Given the description of an element on the screen output the (x, y) to click on. 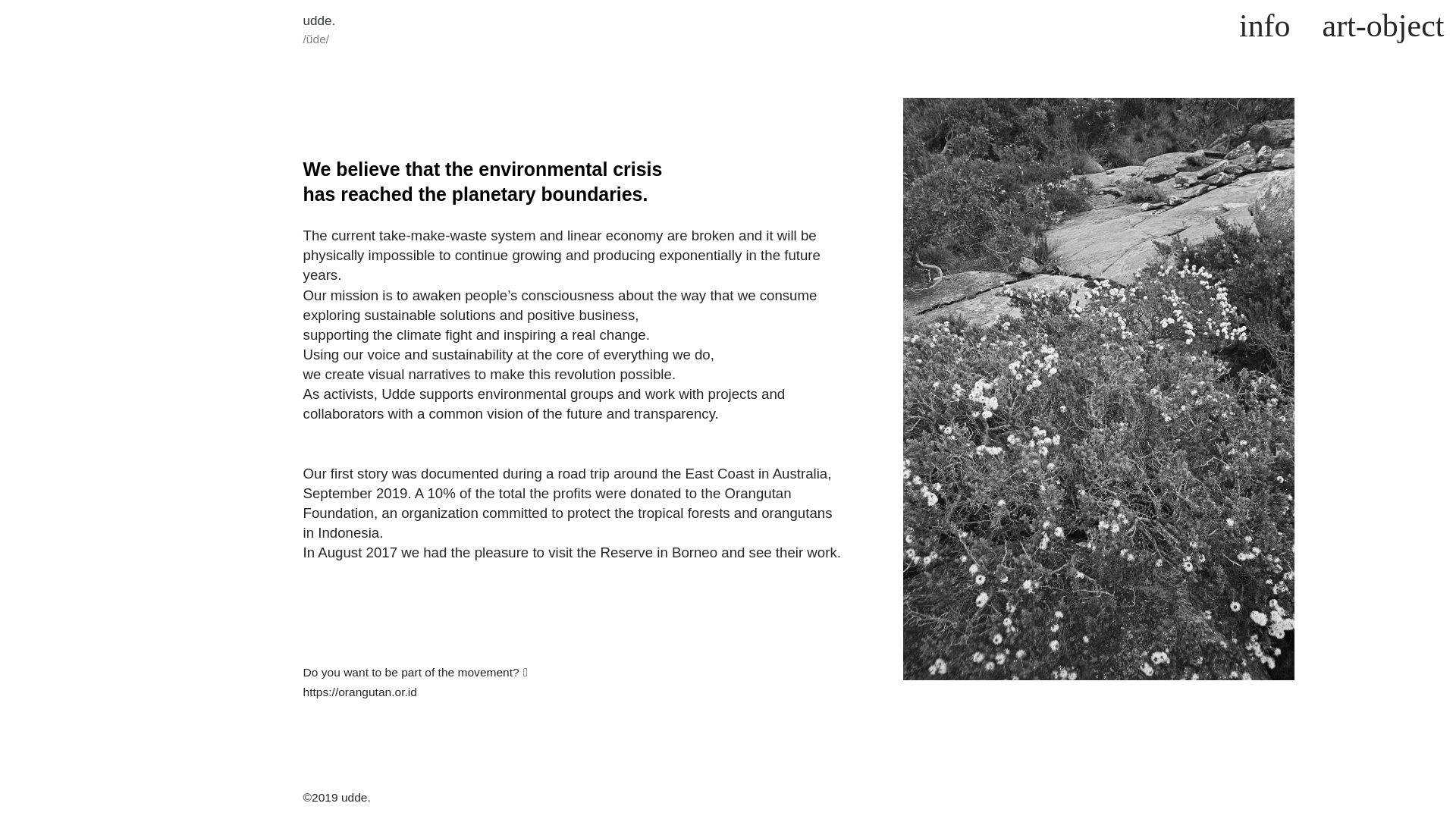
nfo  (1276, 26)
udde. (319, 21)
Do you want to be part of the movement?  (412, 671)
art-object (1383, 26)
